Given the description of an element on the screen output the (x, y) to click on. 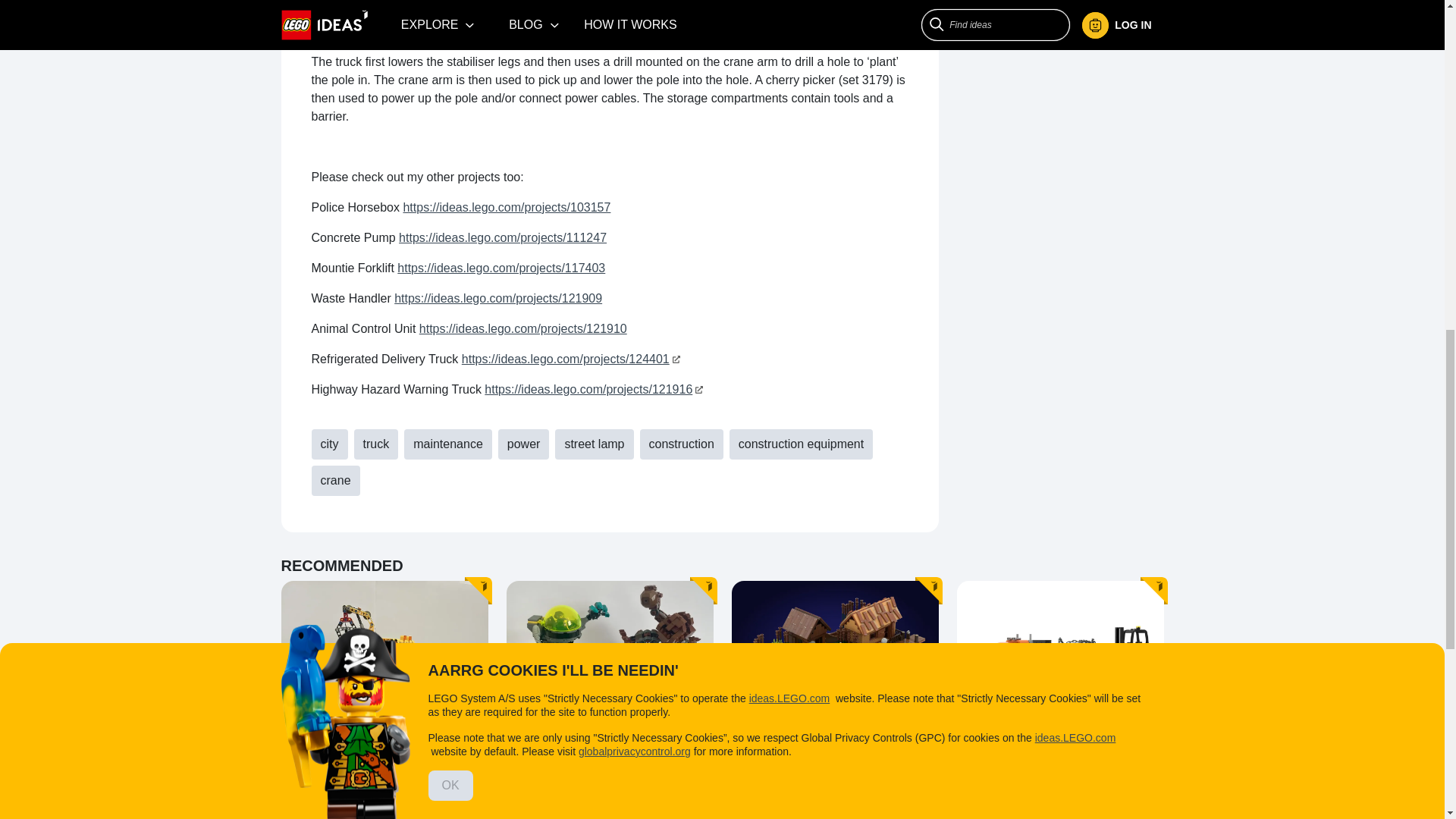
Vintage Russian Truck (383, 744)
Mining Mech vs Rock Monster (609, 744)
